Given the description of an element on the screen output the (x, y) to click on. 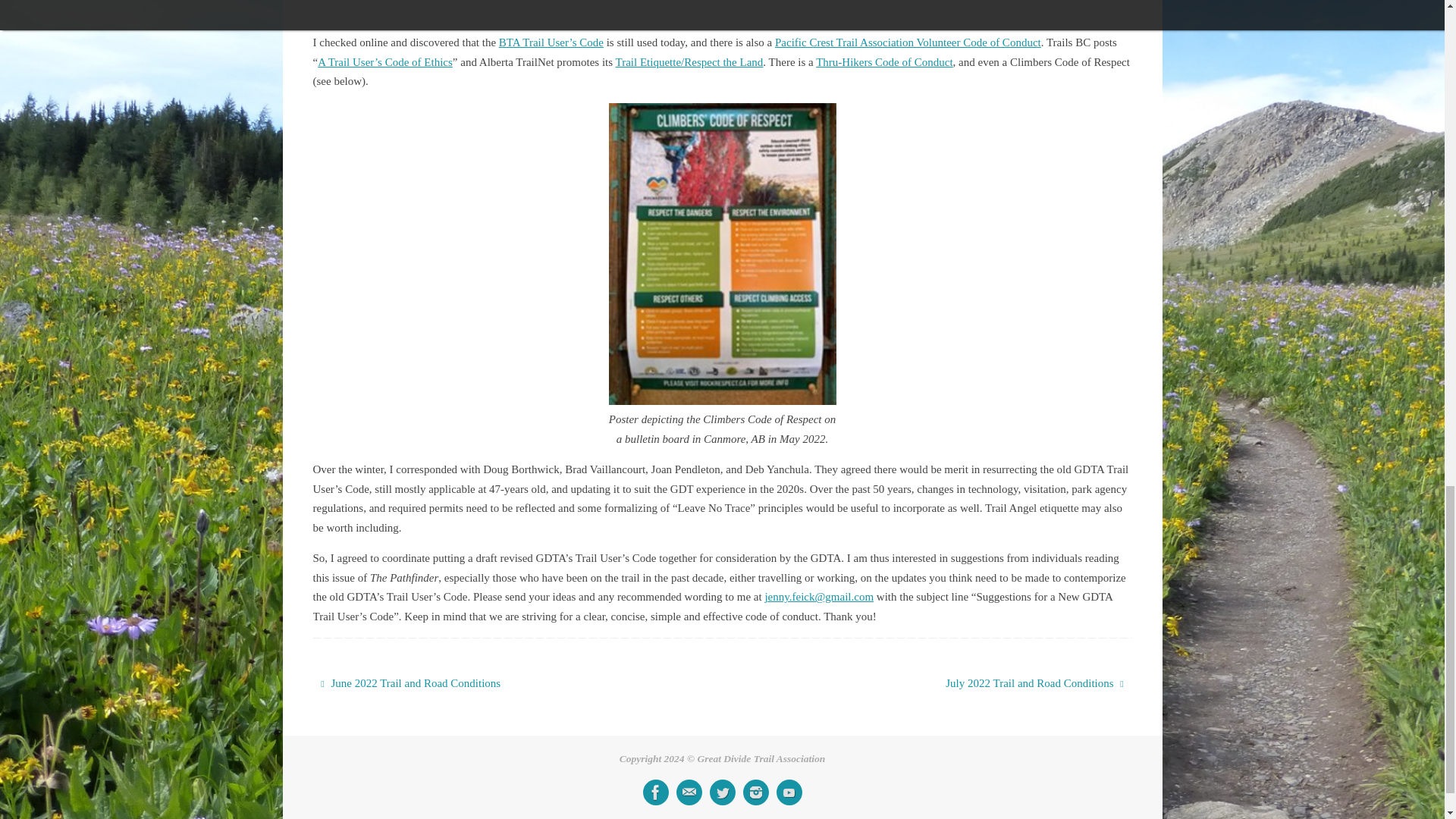
Instagram (755, 792)
Twitter (722, 792)
YouTube (789, 792)
Contact Us (689, 792)
Facebook (655, 792)
